Given the description of an element on the screen output the (x, y) to click on. 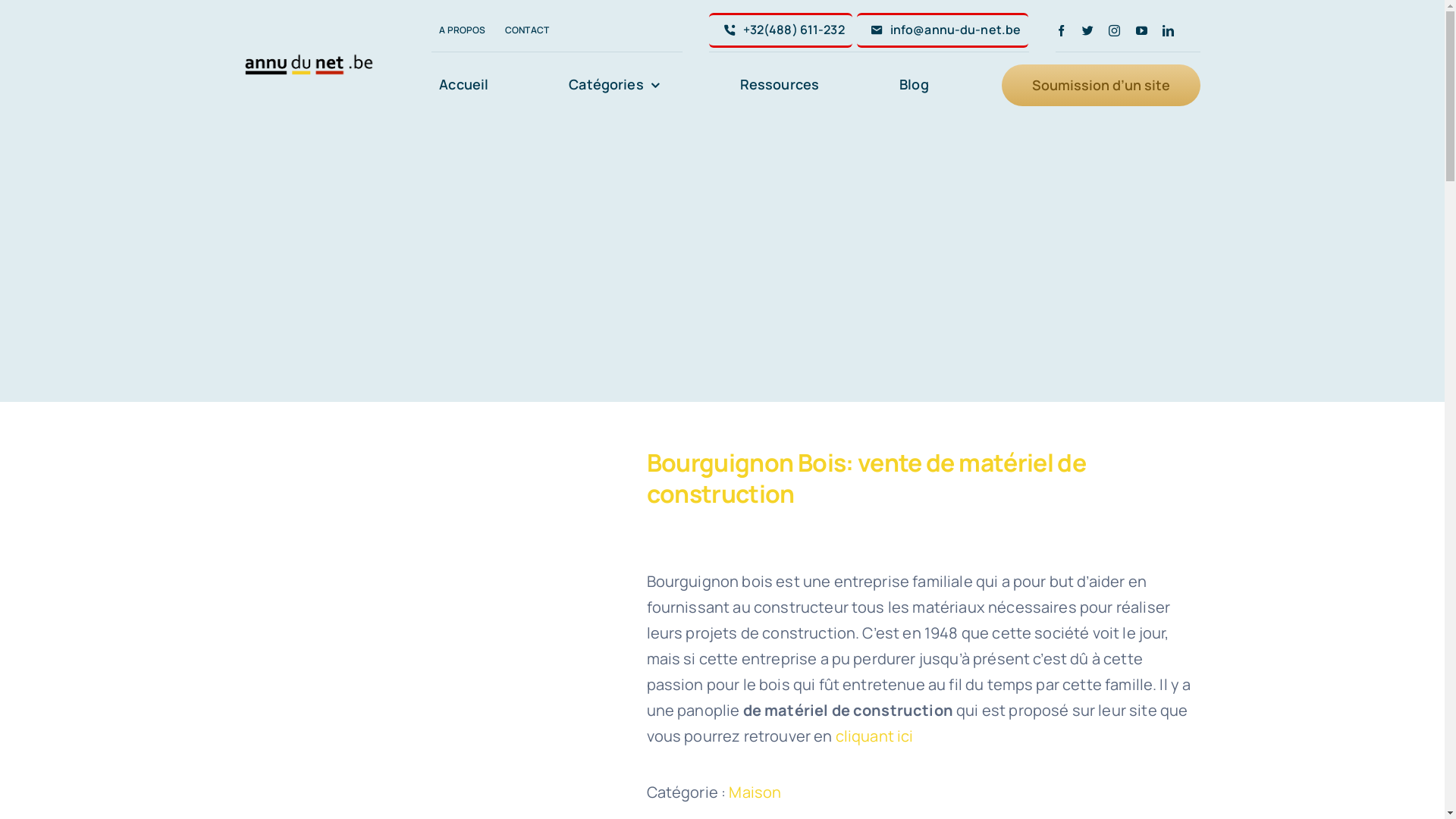
YouTube Element type: hover (1141, 30)
LinkedIn Element type: hover (1167, 30)
Ressources Element type: text (779, 85)
+32(488) 611-232 Element type: text (780, 30)
CONTACT Element type: text (526, 30)
Facebook Element type: hover (1060, 30)
Instagram Element type: hover (1114, 30)
Blog Element type: text (913, 85)
info@annu-du-net.be Element type: text (942, 30)
Twitter Element type: hover (1087, 30)
A PROPOS Element type: text (461, 30)
bourguignon bois Element type: hover (433, 526)
cliquant ici Element type: text (874, 735)
Maison Element type: text (754, 791)
Accueil Element type: text (463, 85)
